Given the description of an element on the screen output the (x, y) to click on. 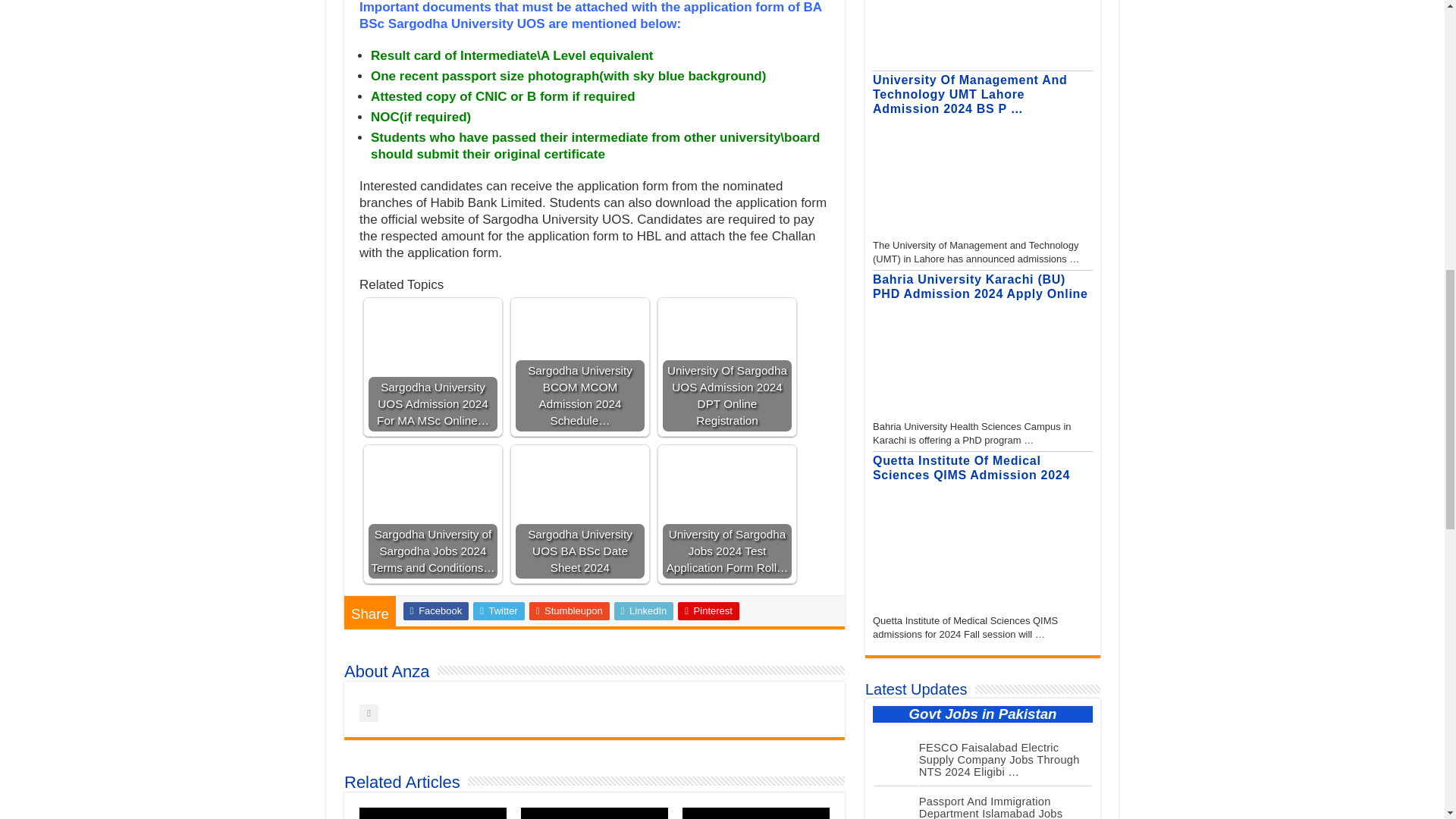
Sargodha University UOS BA BSc Date Sheet 2024 (579, 477)
Twitter (498, 610)
Facebook (435, 610)
Sargodha University UOS BA BSc Date Sheet 2024 (580, 513)
Stumbleupon (569, 610)
LinkedIn (644, 610)
